Given the description of an element on the screen output the (x, y) to click on. 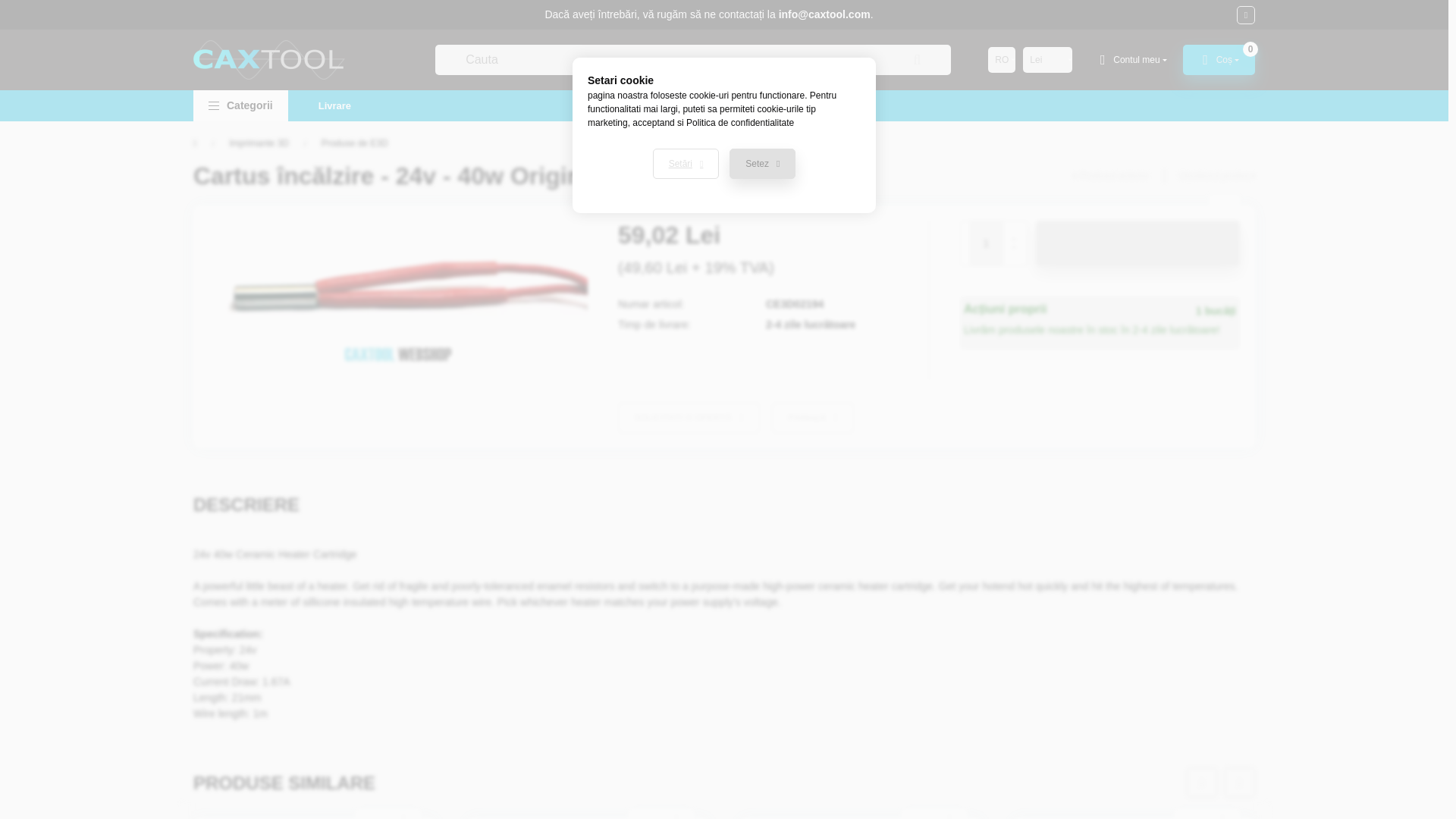
Livrare (334, 105)
Categorii (240, 105)
Produsul anterior (1110, 175)
Contul meu (1131, 60)
Produsul anterior (1110, 175)
Produse de E3D (354, 142)
Imprimante 3D (258, 142)
